Given the description of an element on the screen output the (x, y) to click on. 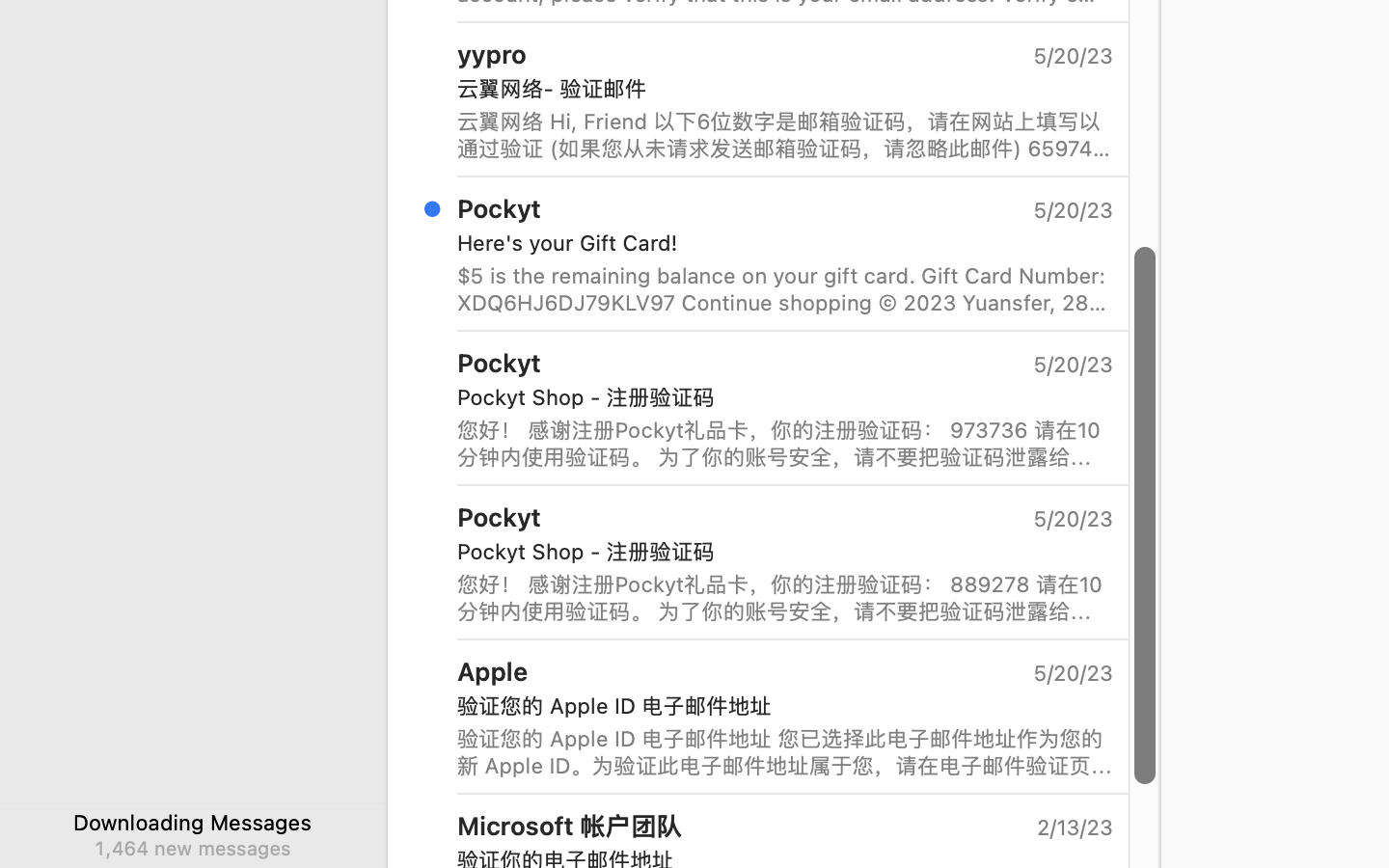
Downloading Messages Element type: AXStaticText (192, 821)
您好！ 感谢注册Pockyt礼品卡，你的注册验证码： 973736 请在10分钟内使用验证码。 为了你的账号安全，请不要把验证码泄露给其他人，谨防被骗。 如果这不是你的请求，请忽略此邮件。 顺颂商祺, Pockyt礼品卡 浏览 shop.pockyt.io 了解更多礼品卡资讯 Element type: AXStaticText (784, 443)
验证您的 Apple ID 电子邮件地址 您已选择此电子邮件地址作为您的新 Apple ID。为验证此电子邮件地址属于您，请在电子邮件验证页面输入下方验证码： 945193 验证码会在此电子邮件发送后三小时失效。 您收到此电子邮件的原因： Apple 会在您选择电子邮件地址为 Apple ID 时对其进行验证。验证电子邮件地址后，您才能使用 Apple ID。 如果您未提出此请求，您可以忽略这封电子邮件。Apple ID 只有在验证后才能创建。 Apple ID | 支持 | 隐私政策 Copyright © 2023 One Apple Park Way, Cupertino, CA 95014, United States‎ 保留所有权利。 Element type: AXStaticText (784, 752)
yypro Element type: AXStaticText (491, 53)
验证您的 Apple ID 电子邮件地址 Element type: AXStaticText (777, 705)
